Given the description of an element on the screen output the (x, y) to click on. 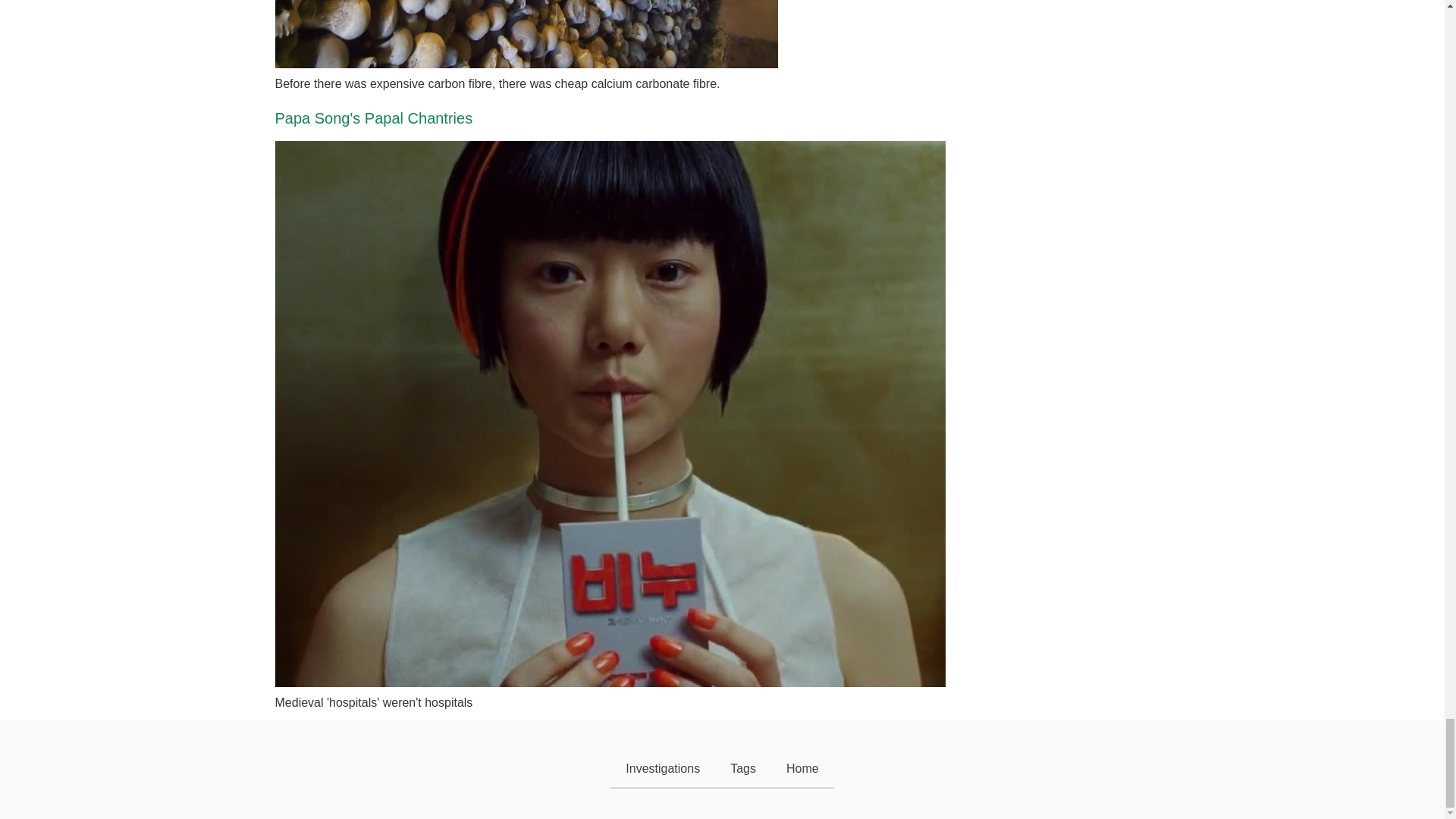
Tags (742, 769)
Home (802, 769)
Investigations (662, 769)
Papa Song's Papal Chantries (373, 117)
